Given the description of an element on the screen output the (x, y) to click on. 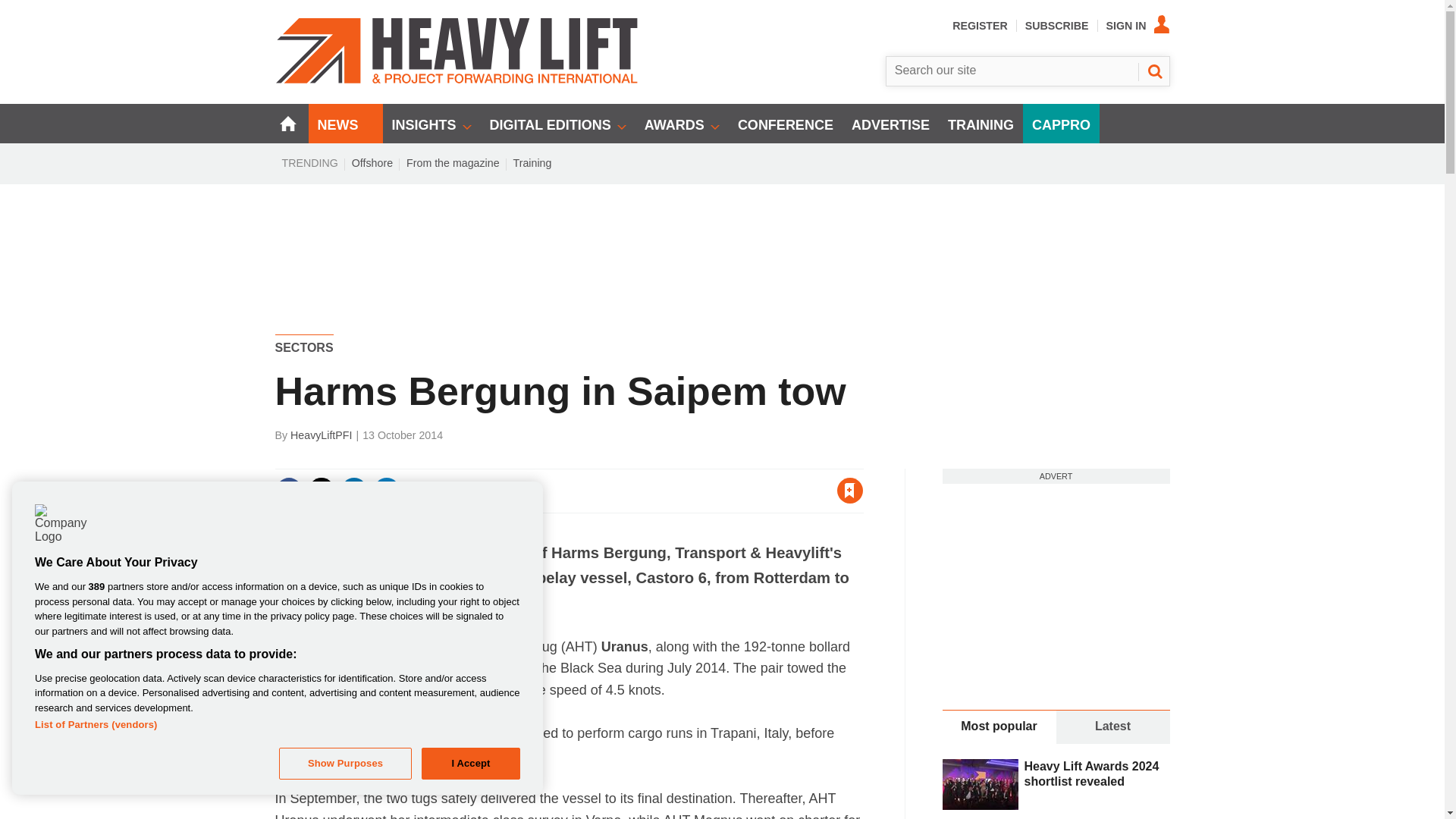
REGISTER (979, 25)
From the magazine (452, 162)
3rd party ad content (722, 236)
Share this on Linked in (352, 490)
Site name (457, 80)
Offshore (371, 162)
SIGN IN (1138, 25)
SEARCH (1153, 70)
Share this on Twitter (320, 490)
SUBSCRIBE (1057, 25)
